Given the description of an element on the screen output the (x, y) to click on. 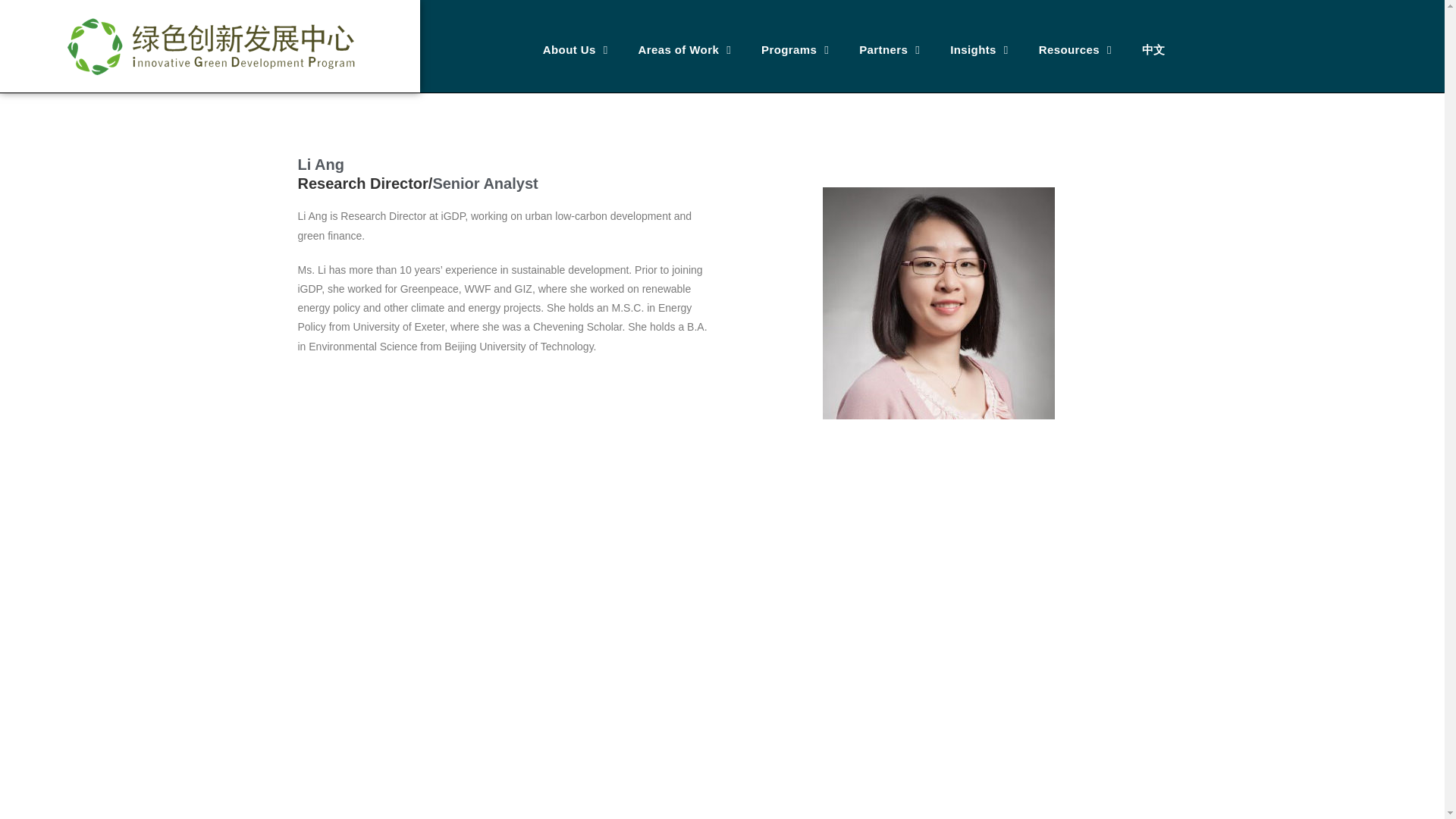
About Us (575, 49)
Resources (1074, 49)
Insights (978, 49)
Partners (889, 49)
Programs (794, 49)
Areas of Work (684, 49)
